Given the description of an element on the screen output the (x, y) to click on. 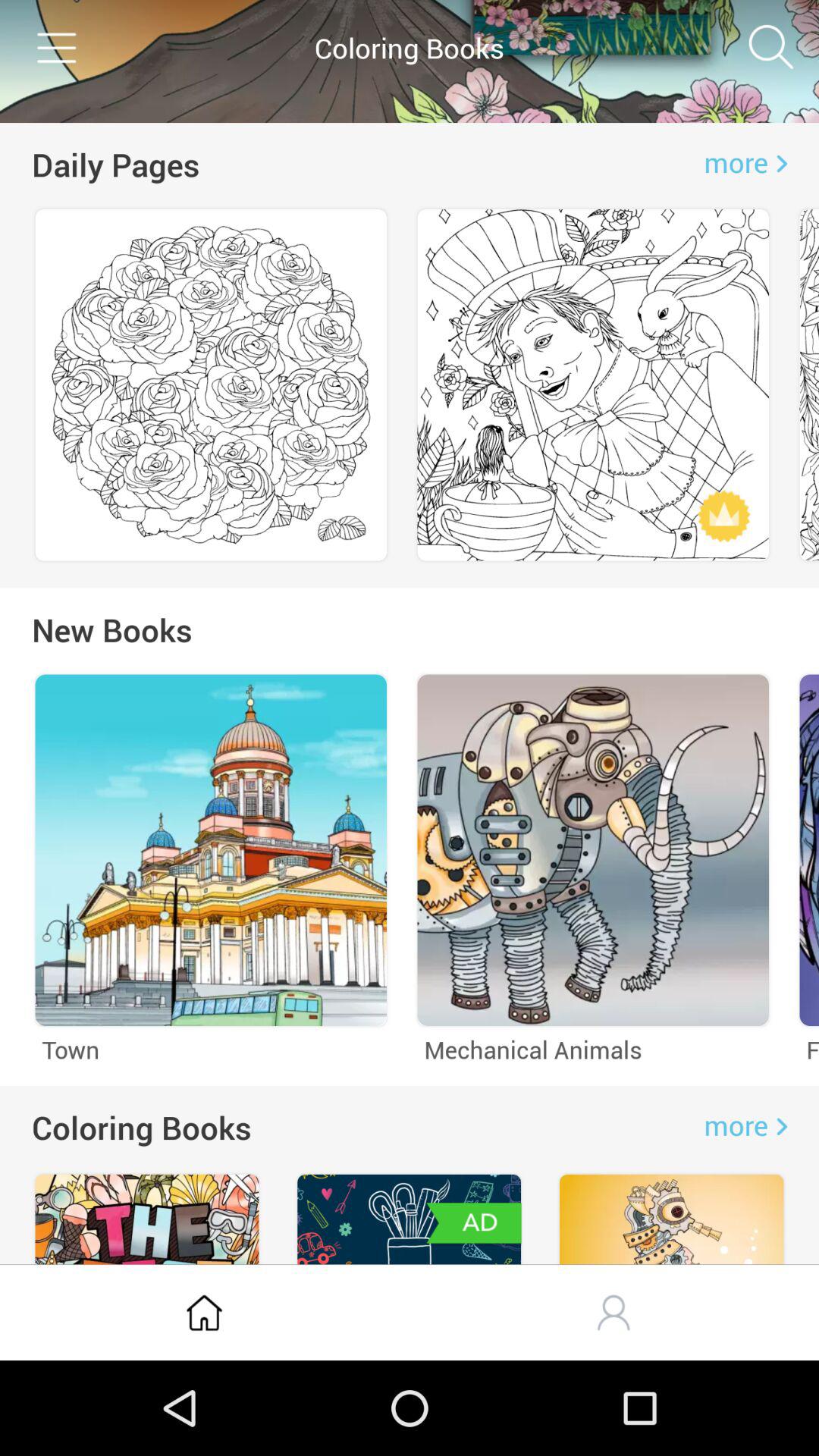
select item above daily pages item (55, 47)
